Given the description of an element on the screen output the (x, y) to click on. 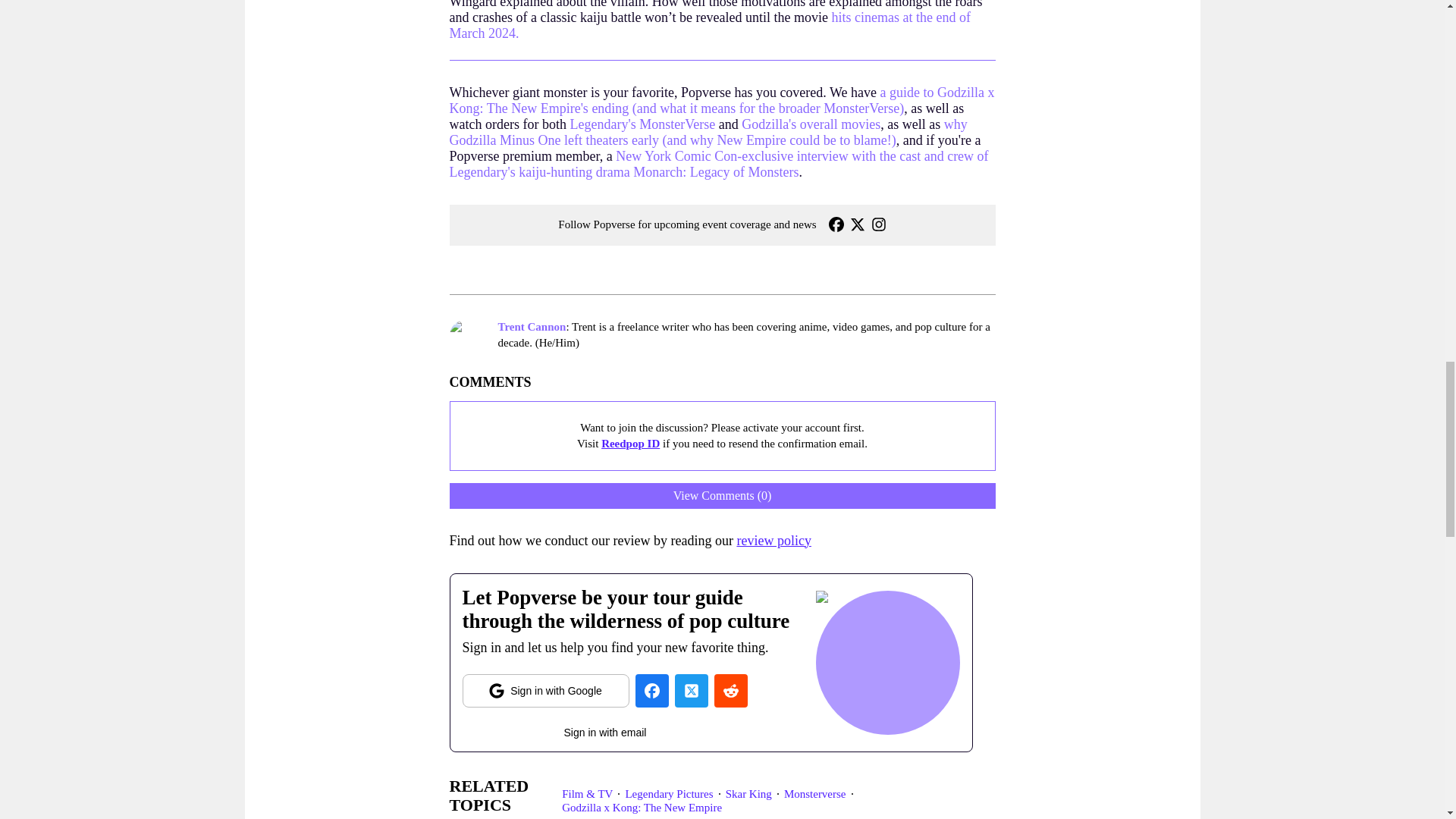
hits cinemas at the end of March 2024. (708, 24)
Legendary's MonsterVerse (641, 124)
Godzilla's overall movies (810, 124)
google (545, 689)
facebook (651, 689)
